Given the description of an element on the screen output the (x, y) to click on. 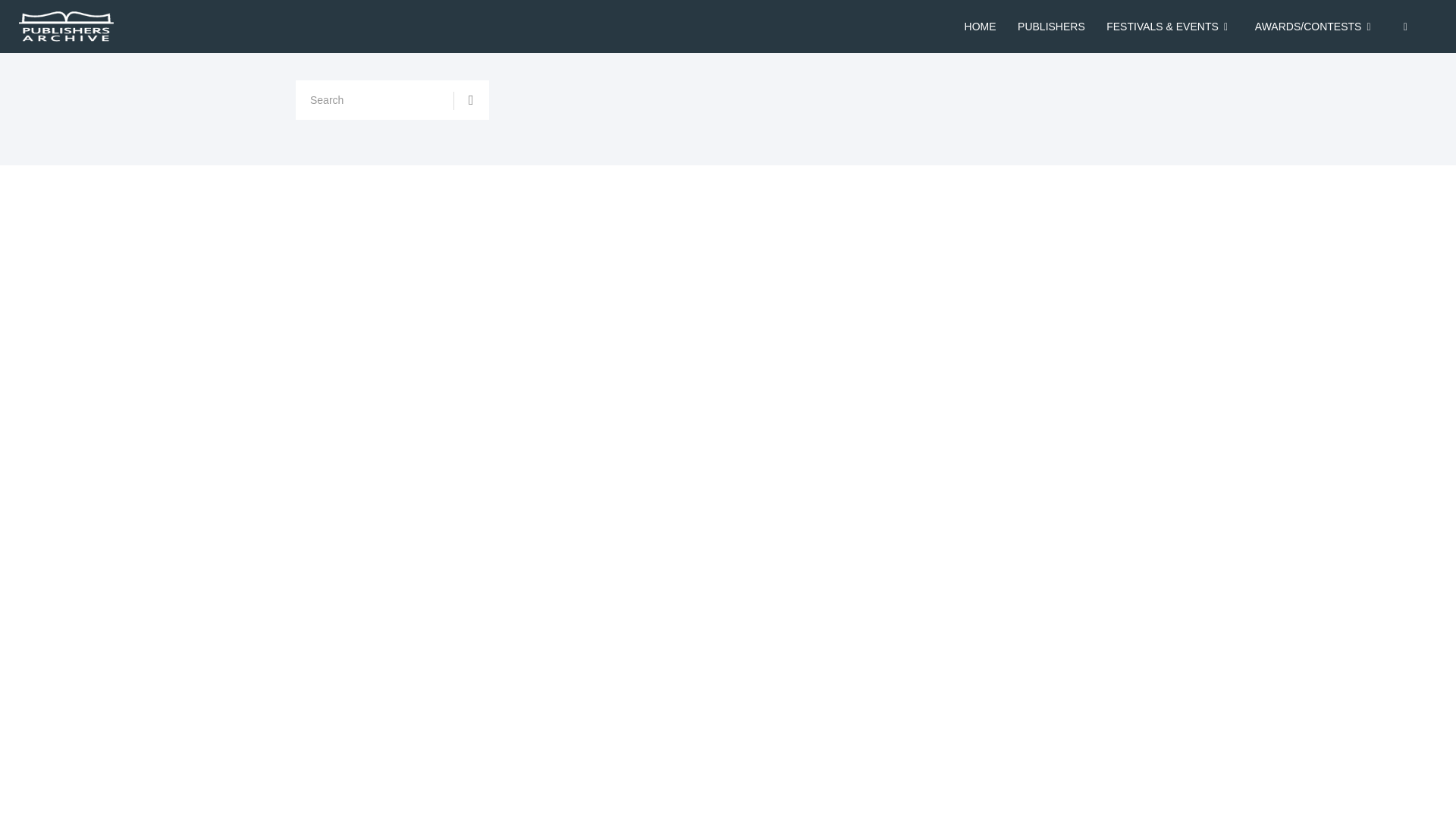
PUBLISHERS (1051, 26)
HOME (980, 26)
